Given the description of an element on the screen output the (x, y) to click on. 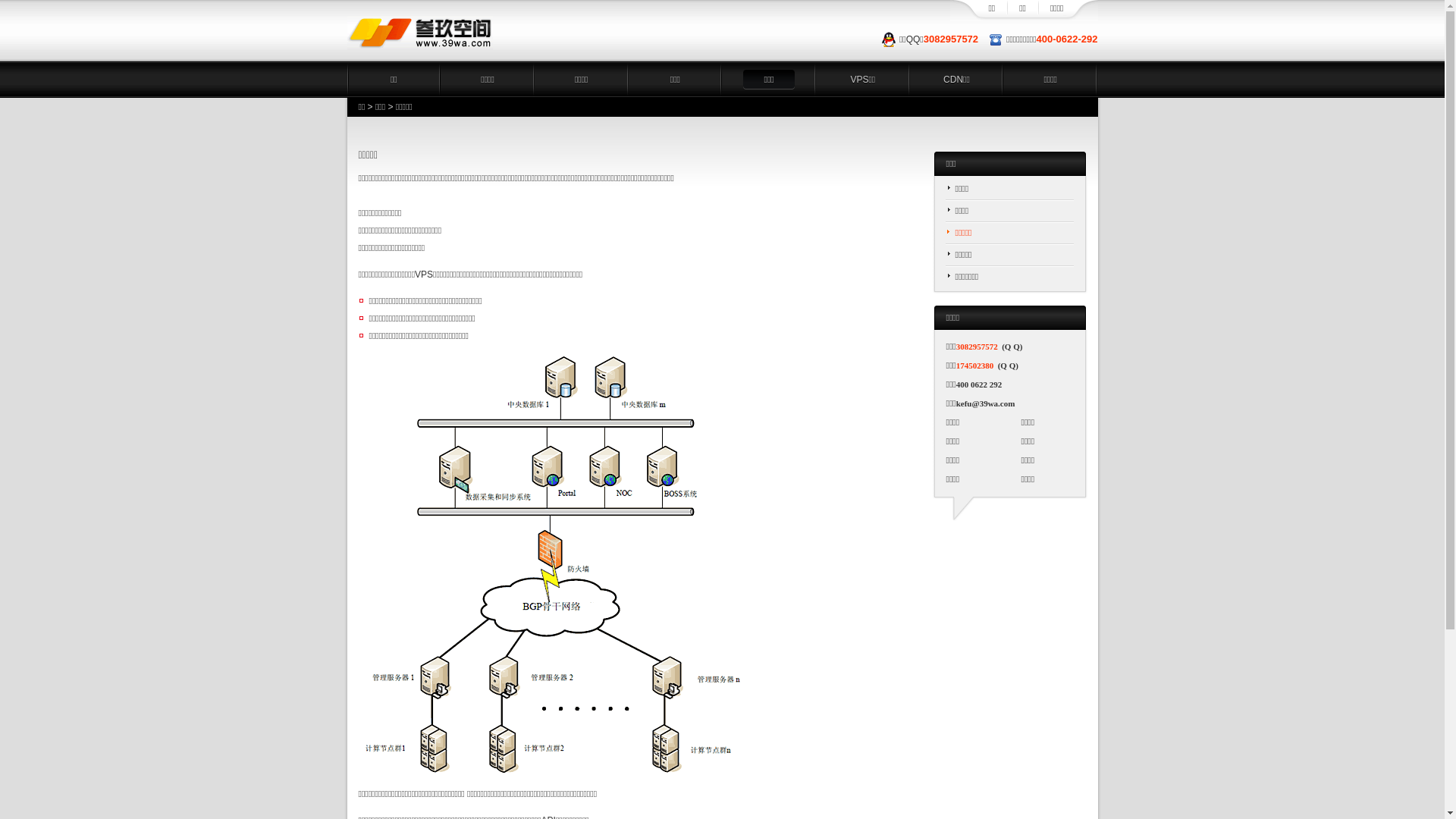
3082957572 Element type: text (950, 38)
3082957572 Element type: text (976, 346)
174502380 Element type: text (975, 365)
